Given the description of an element on the screen output the (x, y) to click on. 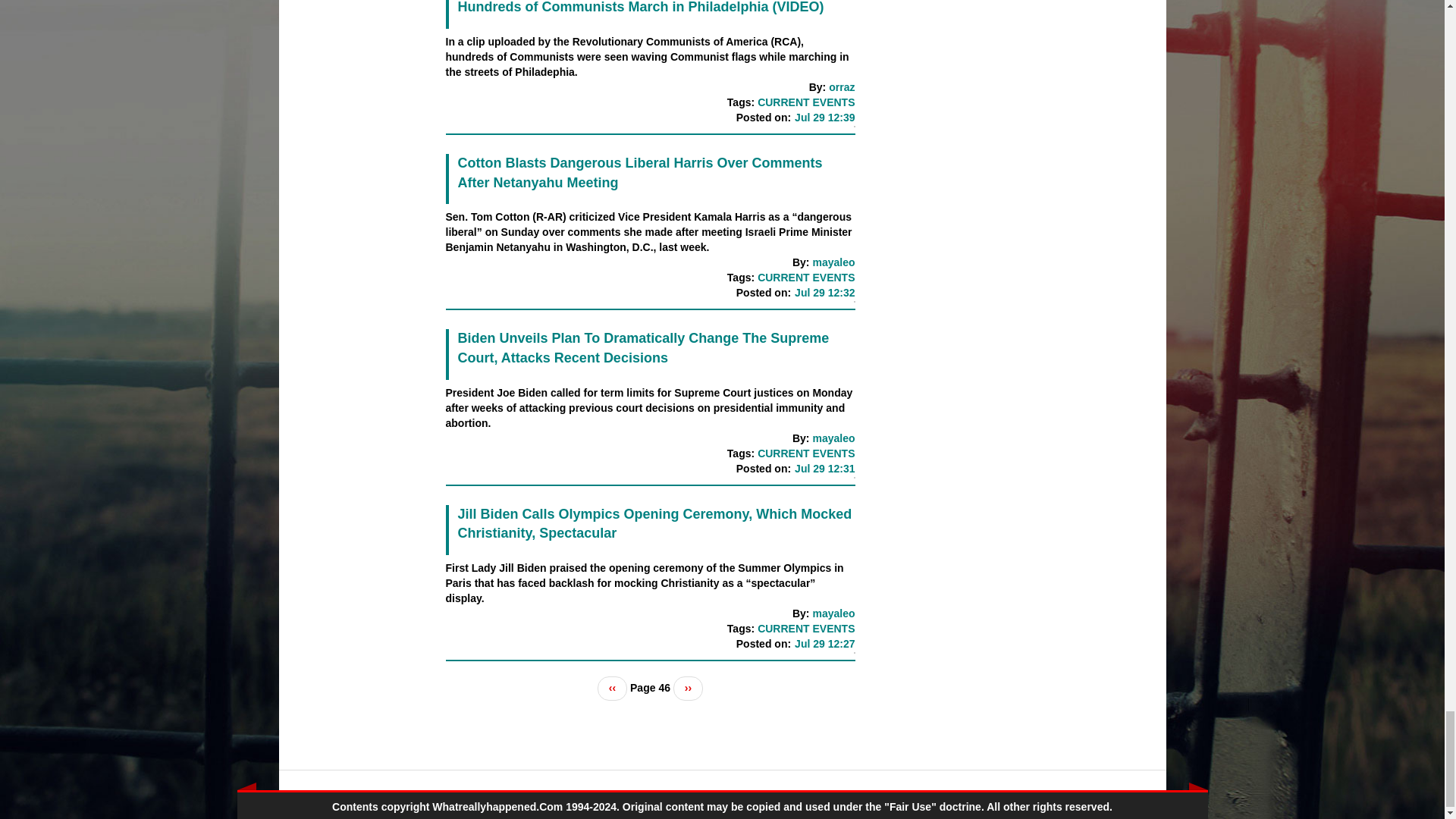
Go to previous page (611, 688)
Go to next page (687, 688)
